Given the description of an element on the screen output the (x, y) to click on. 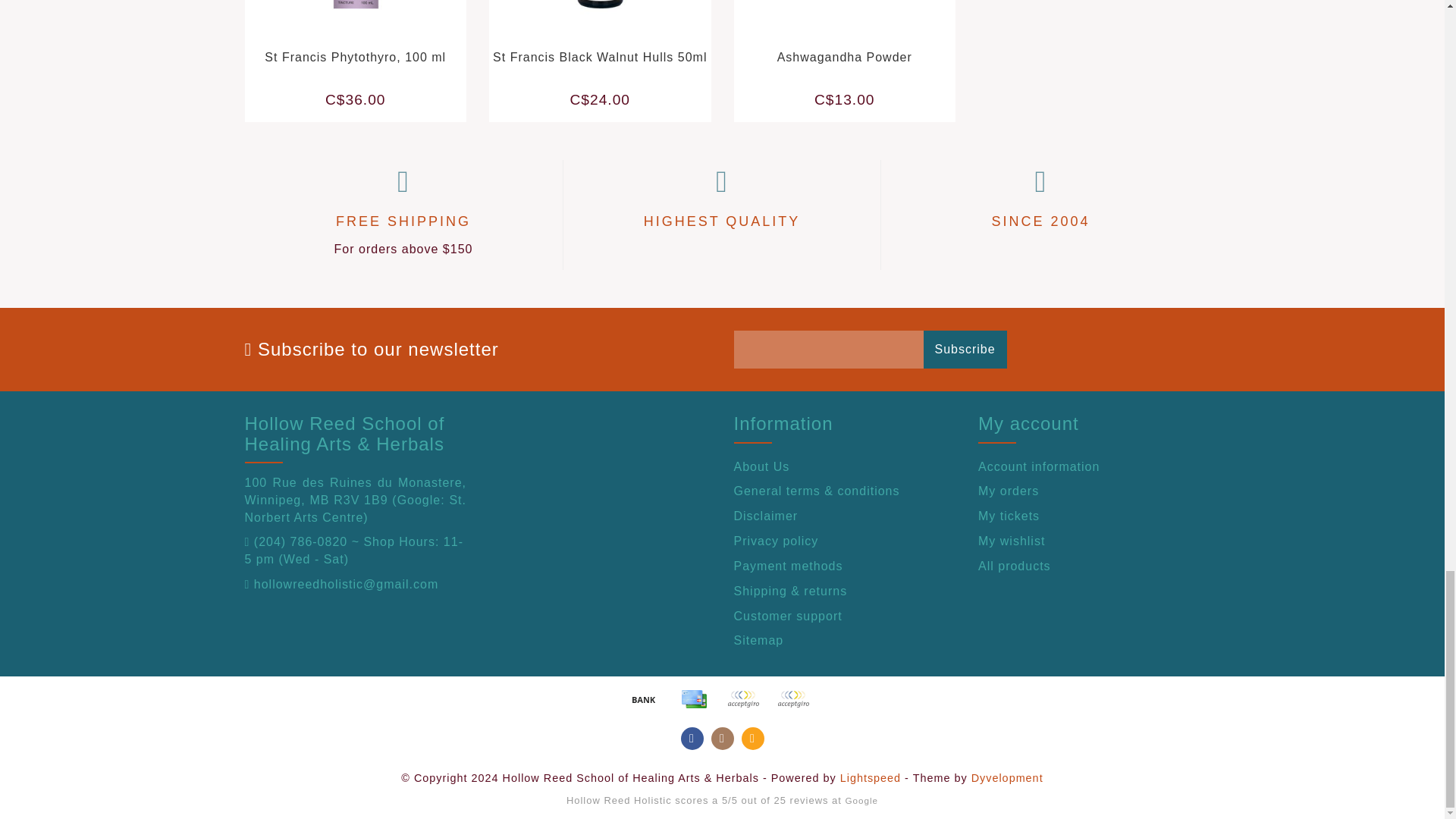
St Francis Phytothyro, 100 ml (369, 25)
St Francis Black Walnut Hulls 50ml (612, 25)
Ashwagandha Powder (844, 56)
St Francis Black Walnut Hulls 50ml (599, 56)
About Us (844, 466)
Subscribe (965, 349)
Ashwagandha Powder (857, 25)
St Francis Phytothyro, 100 ml (354, 56)
